Given the description of an element on the screen output the (x, y) to click on. 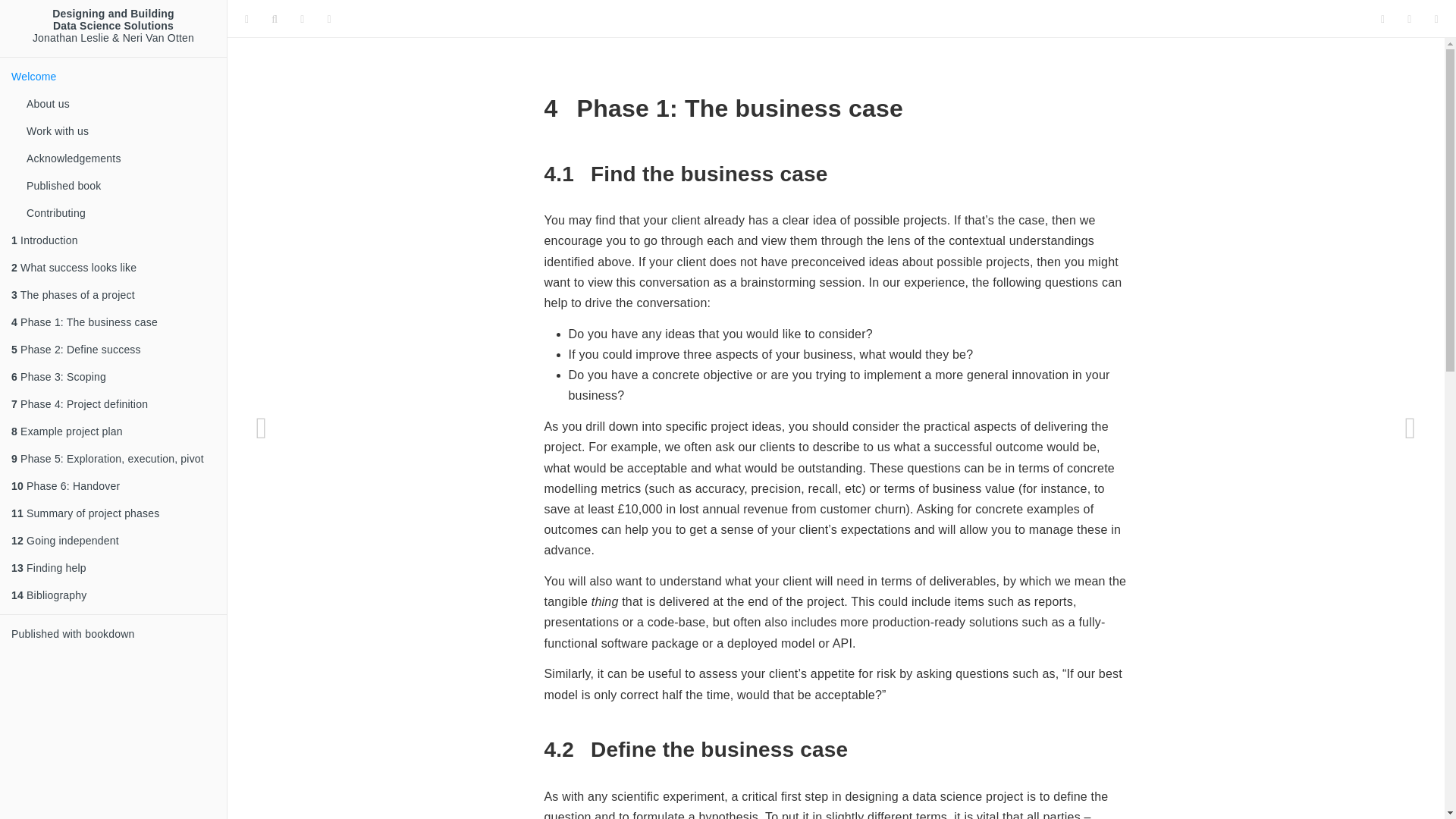
Share (1436, 18)
About us (120, 103)
6 Phase 3: Scoping (113, 376)
Acknowledgements (120, 157)
Font Settings (301, 18)
7 Phase 4: Project definition (113, 403)
Toggle Sidebar (246, 18)
Welcome (113, 76)
4 Phase 1: The business case (113, 321)
Information about the toolbar (328, 18)
Work with us (120, 130)
Published book (120, 185)
Facebook (1409, 18)
1 Introduction (113, 239)
Contributing (120, 212)
